Given the description of an element on the screen output the (x, y) to click on. 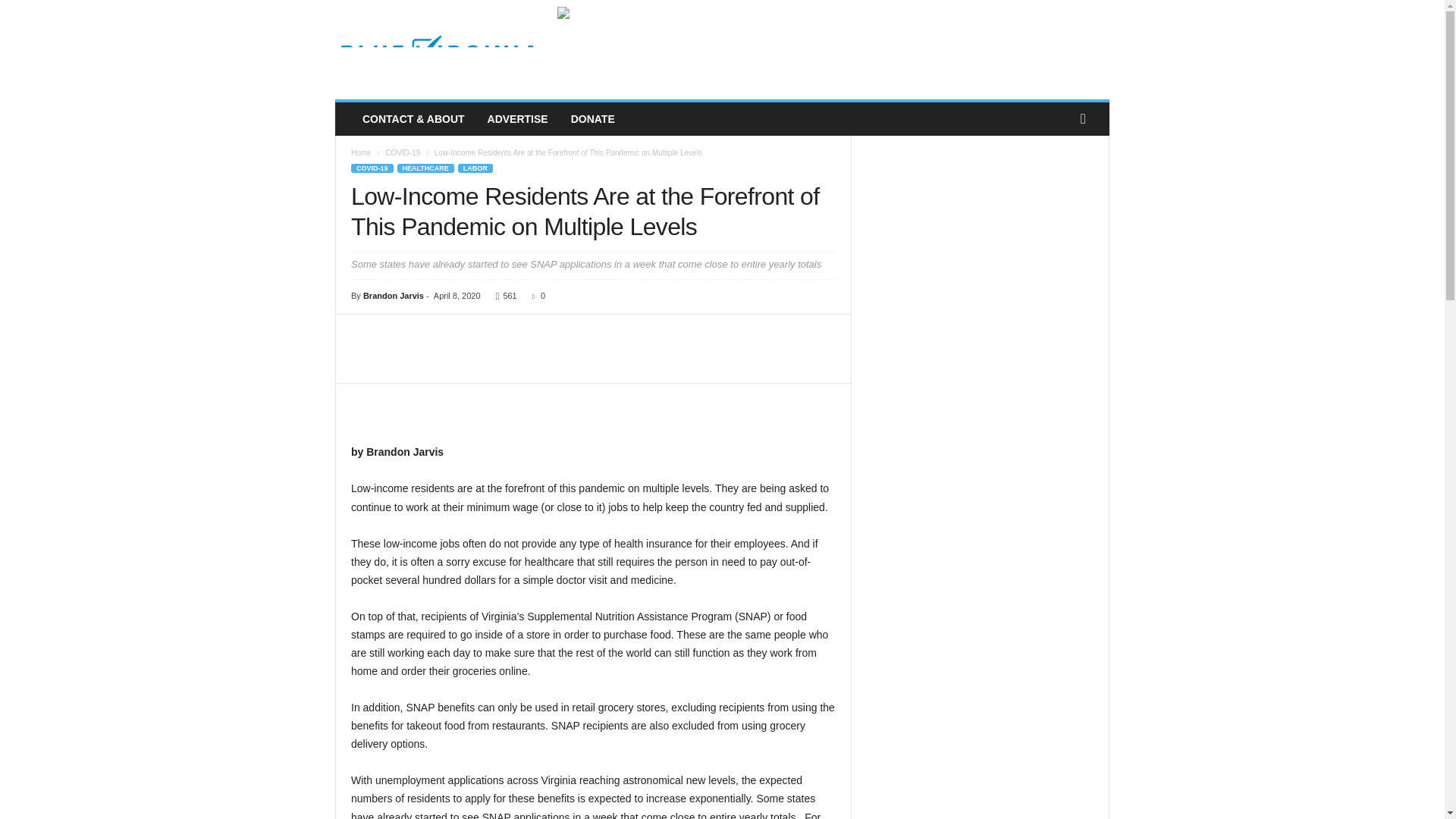
Home (360, 152)
View all posts in COVID-19 (402, 152)
HEALTHCARE (425, 167)
Blue Virginia (437, 49)
ADVERTISE (517, 118)
COVID-19 (402, 152)
COVID-19 (371, 167)
Brandon Jarvis (392, 295)
0 (534, 295)
LABOR (475, 167)
